Given the description of an element on the screen output the (x, y) to click on. 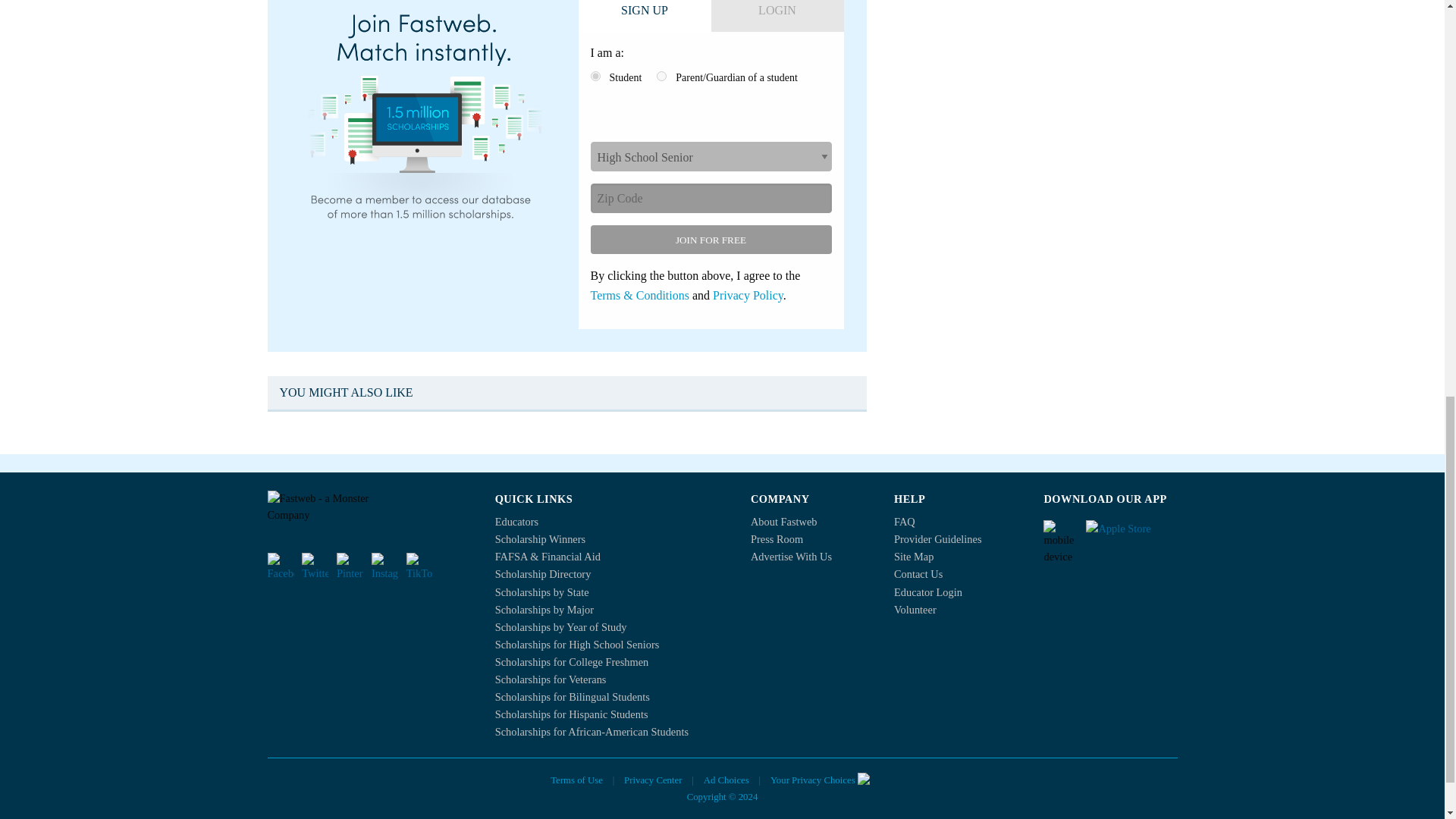
Fastweb on Instagram (384, 565)
Fastweb on Pinterest (349, 565)
Fastweb on Facebook (280, 565)
Join for free (710, 239)
Fastweb on TikTok (419, 565)
Fastweb on IOS (1131, 533)
1 (594, 76)
2 (661, 76)
